Given the description of an element on the screen output the (x, y) to click on. 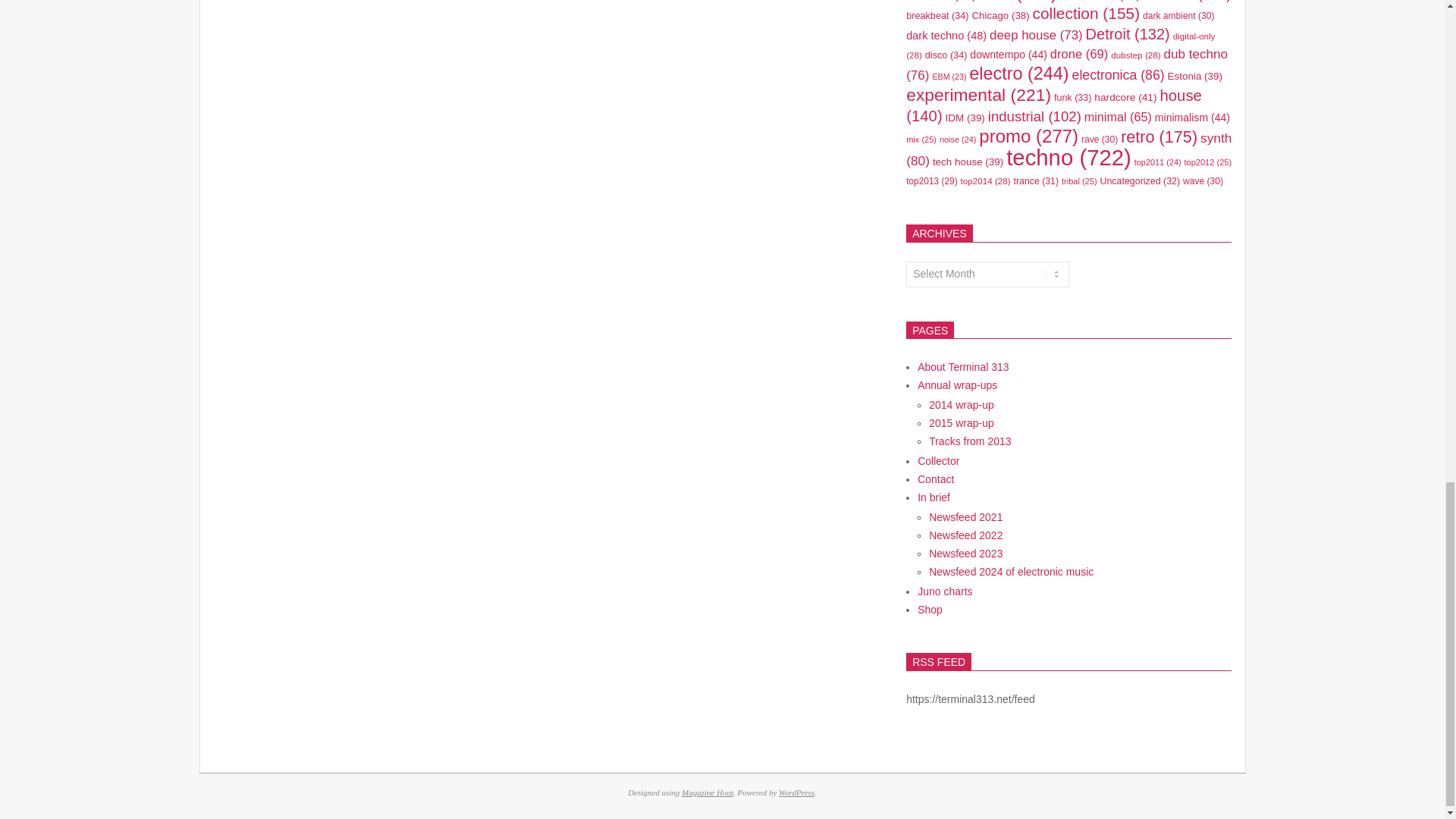
Magazine Hoot WordPress Theme (707, 791)
